Given the description of an element on the screen output the (x, y) to click on. 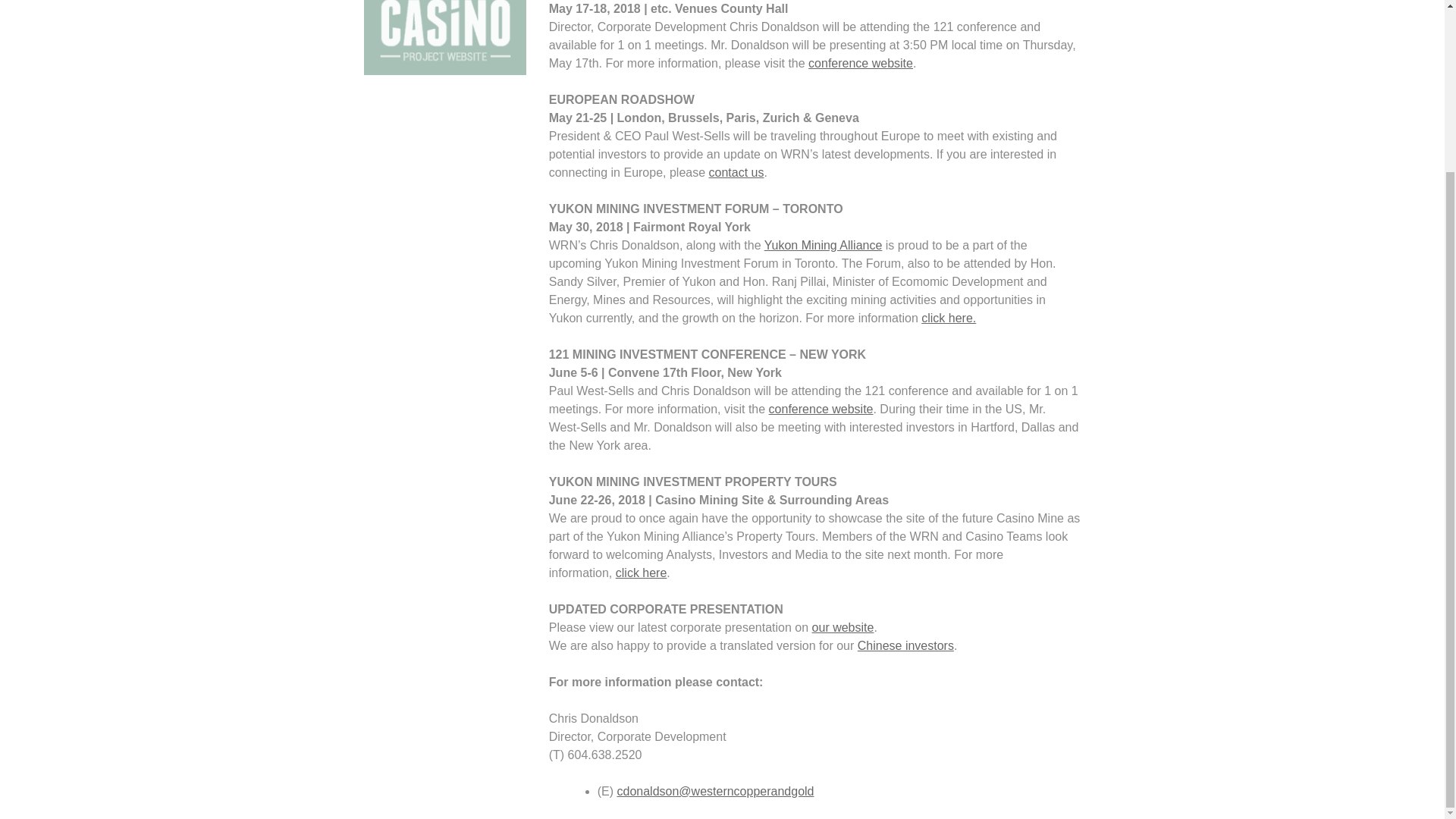
conference website (860, 62)
contact us (736, 172)
click here. (948, 318)
click here (640, 572)
conference website (820, 408)
Yukon Mining Alliance (823, 245)
